Given the description of an element on the screen output the (x, y) to click on. 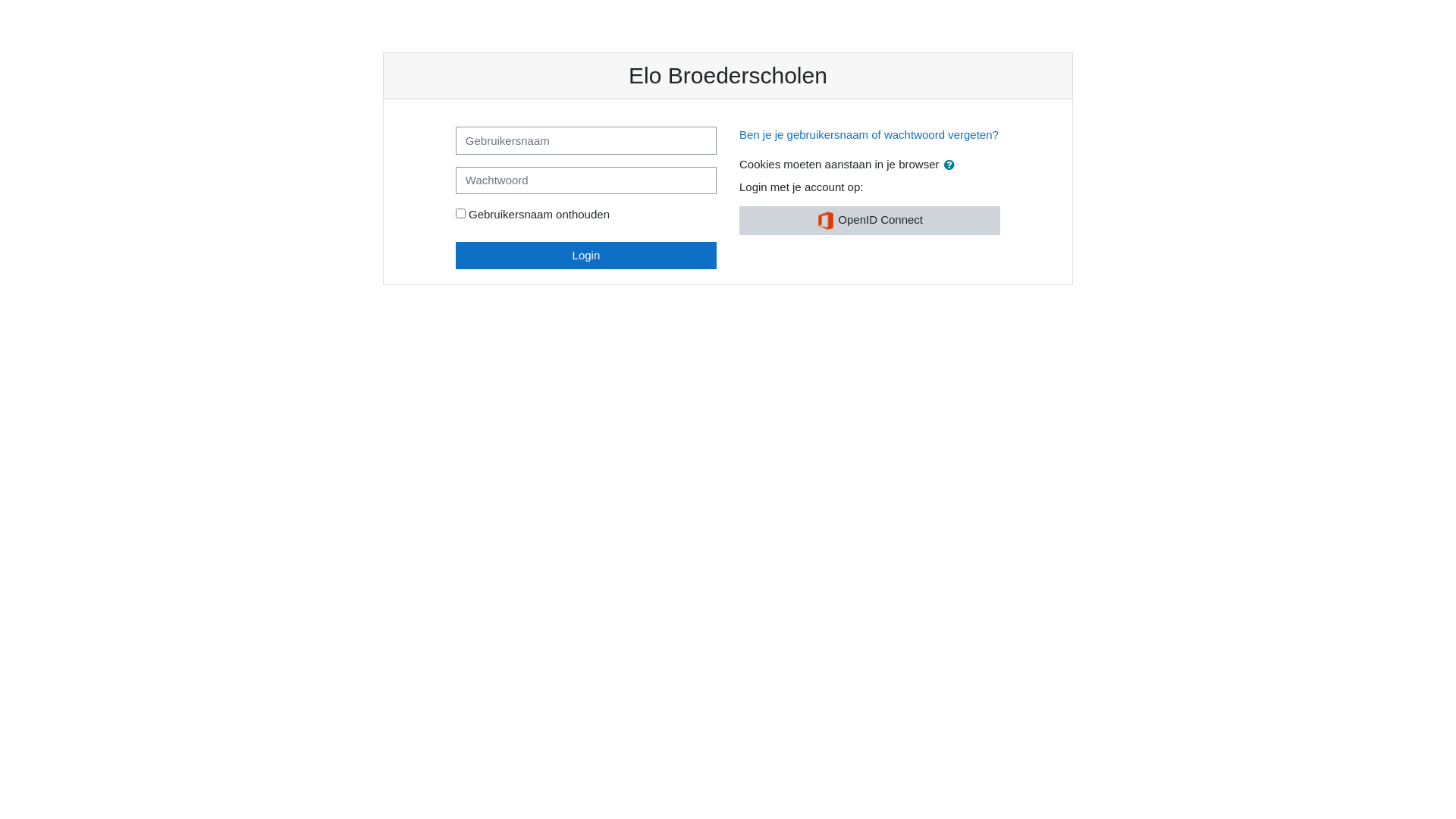
Ben je je gebruikersnaam of wachtwoord vergeten? Element type: text (868, 134)
Login Element type: text (585, 255)
Klik voor hulp over 'Cookies moeten aanstaan in je browser' Element type: hover (949, 163)
OpenID Connect Element type: text (869, 220)
